Given the description of an element on the screen output the (x, y) to click on. 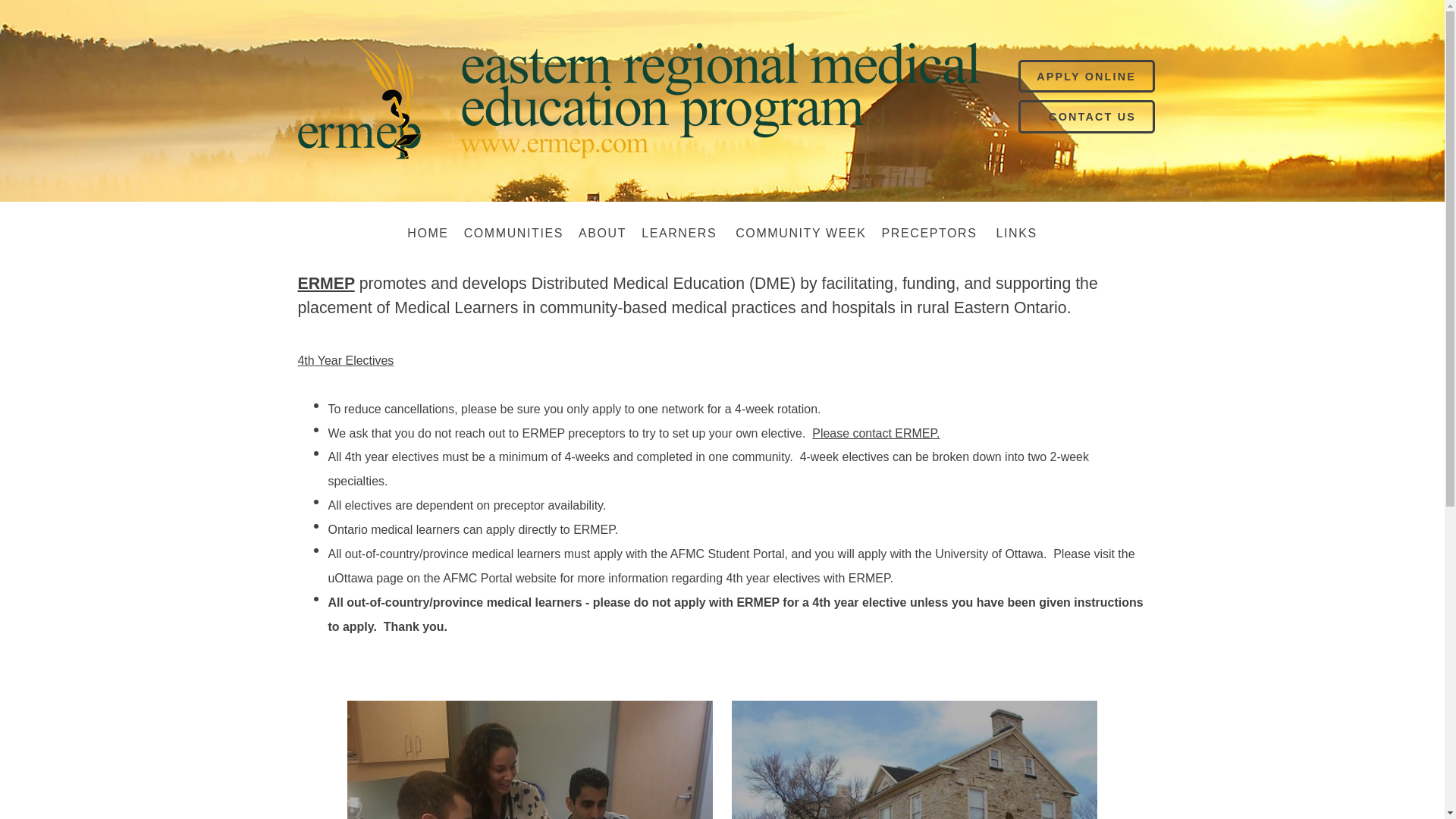
Home (426, 233)
ABOUT (601, 233)
COMMUNITIES (513, 233)
LEARNERS (680, 233)
CONTACT US (1092, 116)
PRECEPTORS (931, 233)
HOME (426, 233)
COMMUNITY WEEK (800, 233)
APPLY ONLINE (1085, 76)
LINKS (1016, 233)
